Given the description of an element on the screen output the (x, y) to click on. 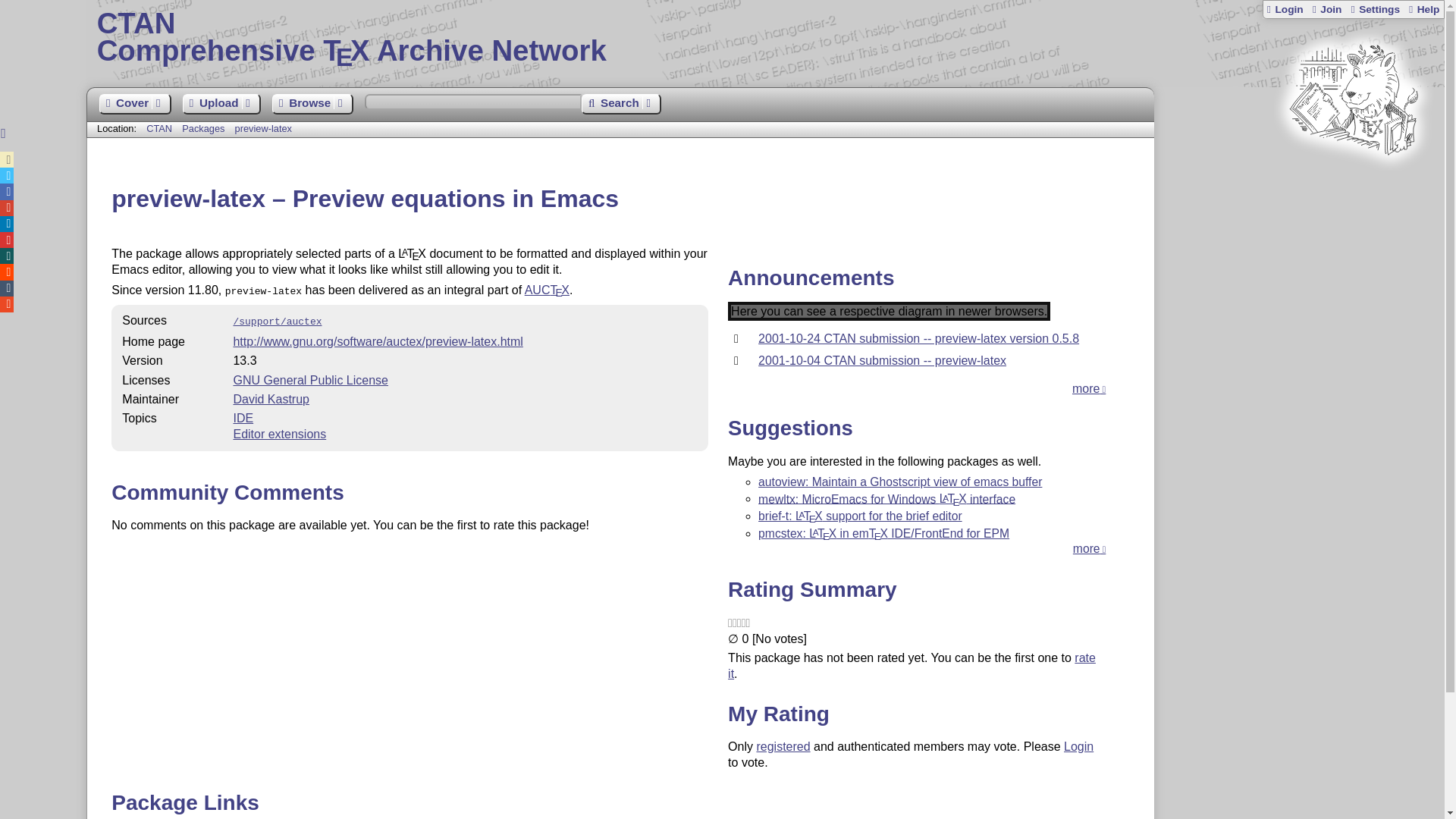
Editor extensions (279, 433)
Packages (204, 128)
Login (1284, 8)
Adjust the appearance to your taste (1374, 8)
preview-latex (263, 128)
CTAN lion drawing by Duane Bibby (1353, 183)
AUCTEX (546, 289)
Search (620, 104)
Cover (134, 104)
Login with your personal account (1284, 8)
